Given the description of an element on the screen output the (x, y) to click on. 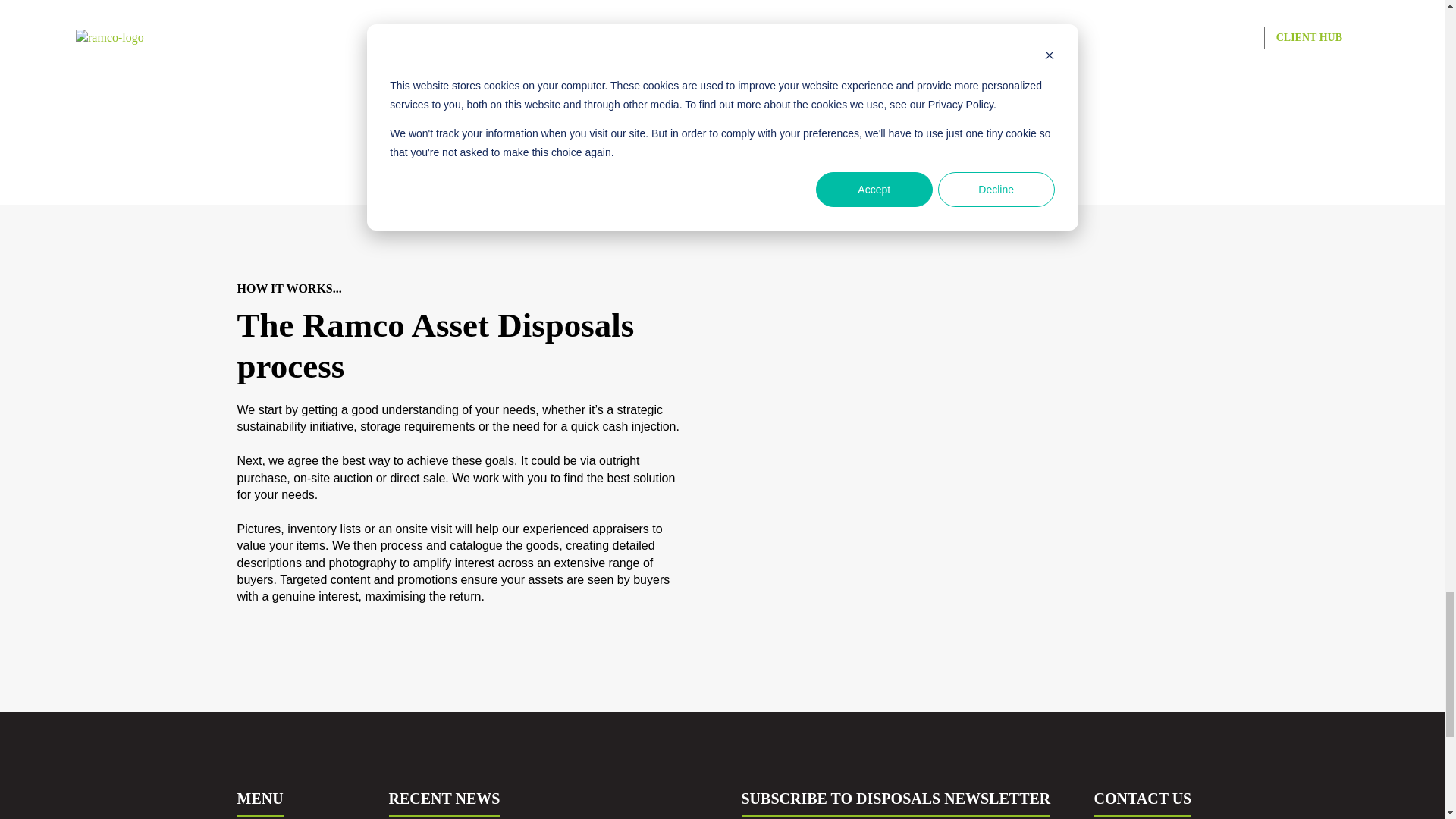
Website commercial clients (721, 116)
